Given the description of an element on the screen output the (x, y) to click on. 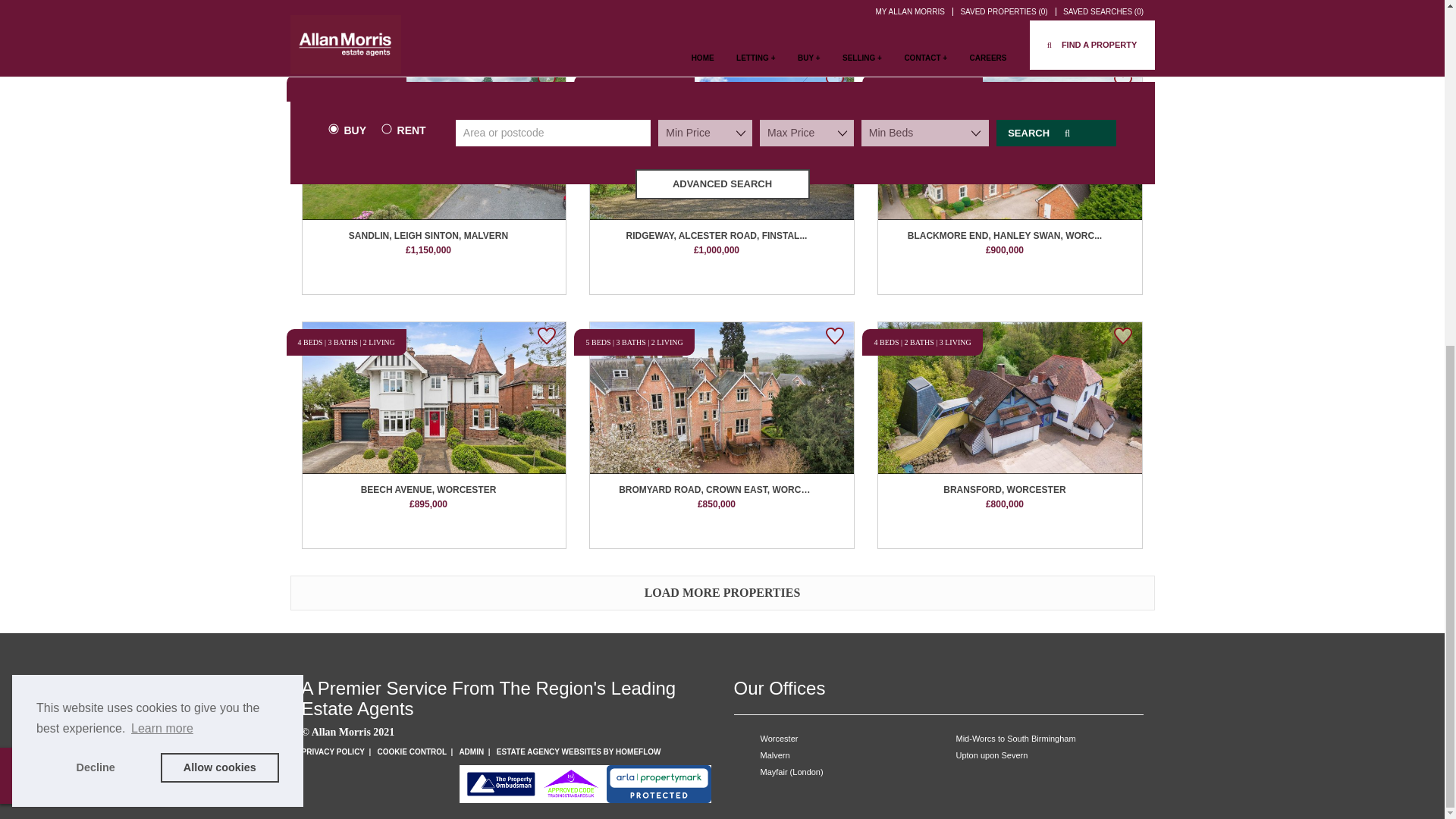
Allow cookies (219, 173)
Decline (95, 173)
Estate agent website design (578, 751)
Learn more (162, 134)
